Given the description of an element on the screen output the (x, y) to click on. 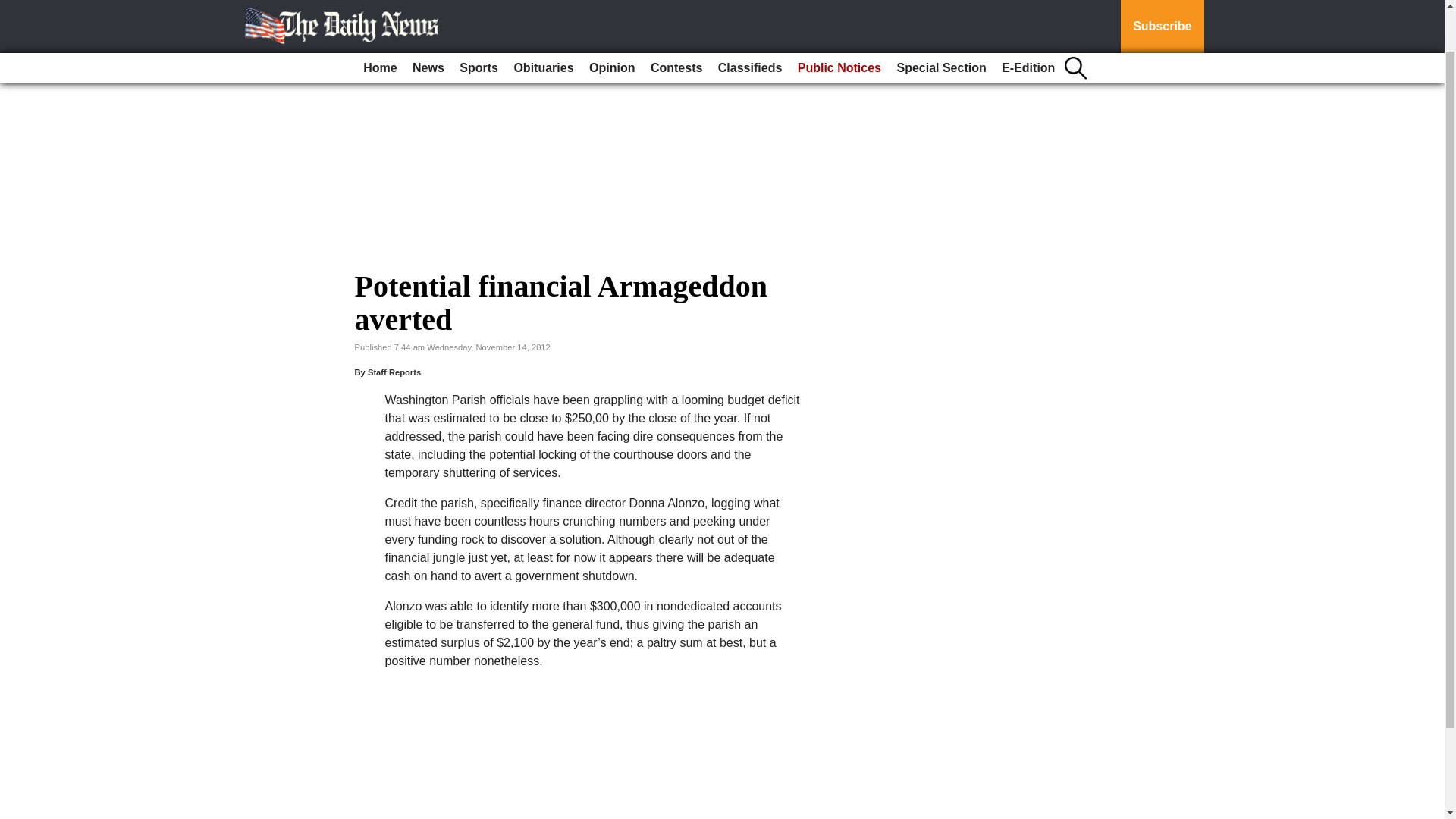
Sports (477, 19)
E-Edition (1028, 19)
Special Section (940, 19)
Obituaries (542, 19)
News (427, 19)
Opinion (611, 19)
Subscribe (1162, 2)
Contests (676, 19)
Staff Reports (394, 371)
Home (379, 19)
Classifieds (749, 19)
Public Notices (839, 19)
